Given the description of an element on the screen output the (x, y) to click on. 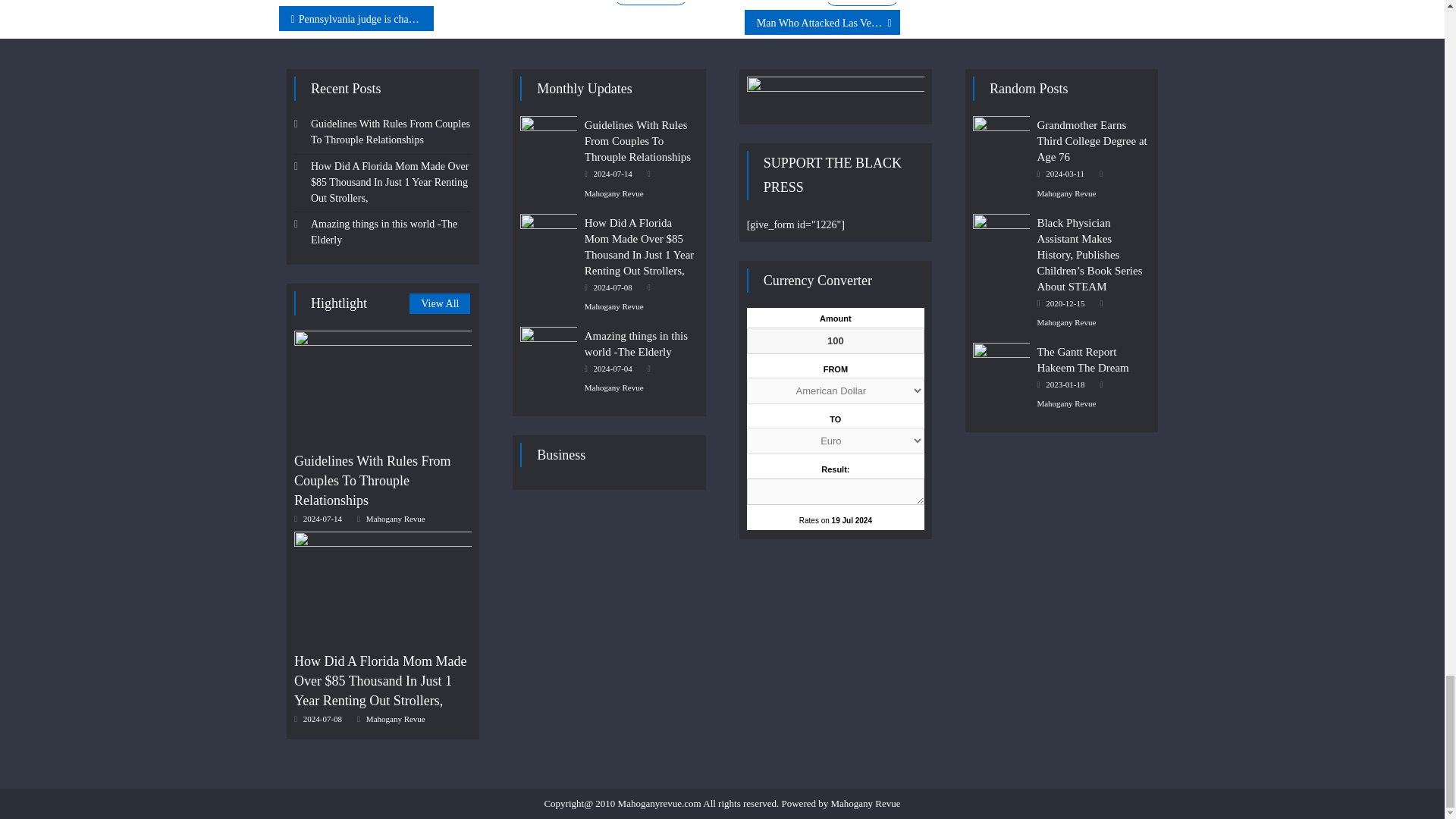
100 (835, 340)
Guidelines With Rules From Couples To Throuple Relationships (547, 136)
Amazing things in this world -The Elderly (547, 346)
Guidelines With Rules From Couples To Throuple Relationships (382, 386)
